Given the description of an element on the screen output the (x, y) to click on. 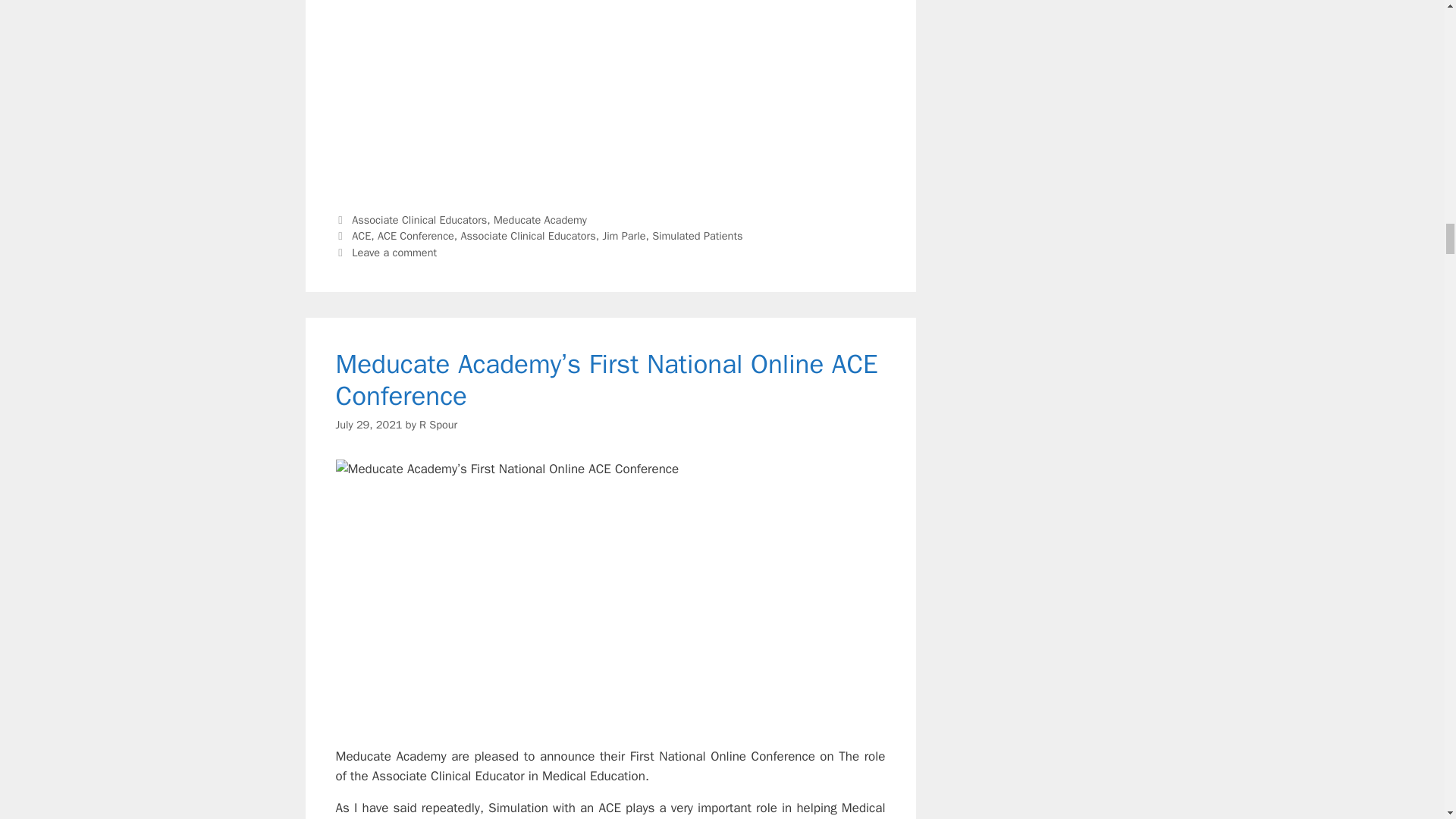
ACE Conference (415, 235)
ACE (361, 235)
Simulated Patients (697, 235)
Meducate Academy (539, 219)
View all posts by R Spour (438, 424)
Associate Clinical Educators (419, 219)
Leave a comment (394, 252)
Associate Clinical Educators (528, 235)
R Spour (438, 424)
